Given the description of an element on the screen output the (x, y) to click on. 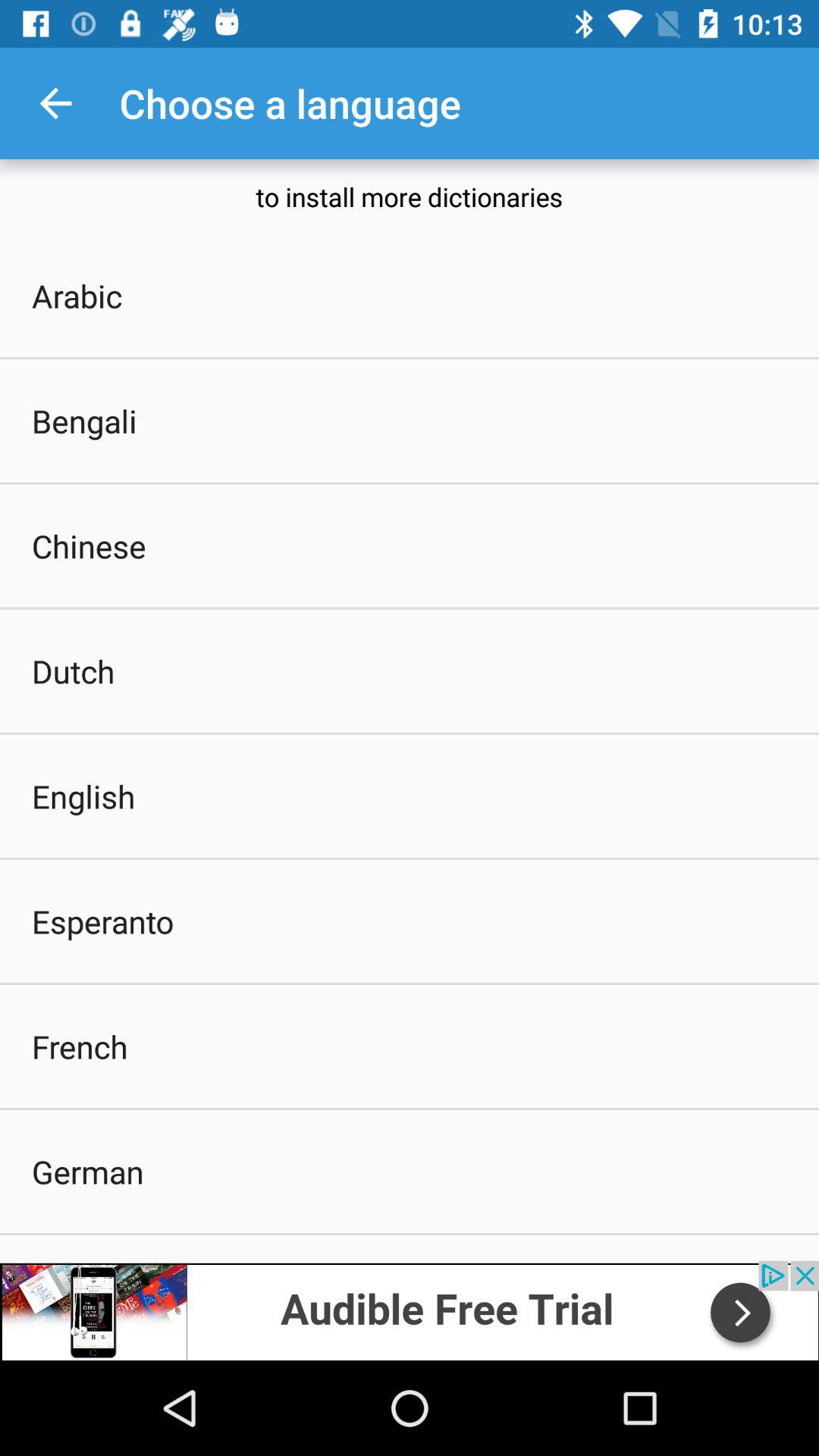
share link (409, 1310)
